Given the description of an element on the screen output the (x, y) to click on. 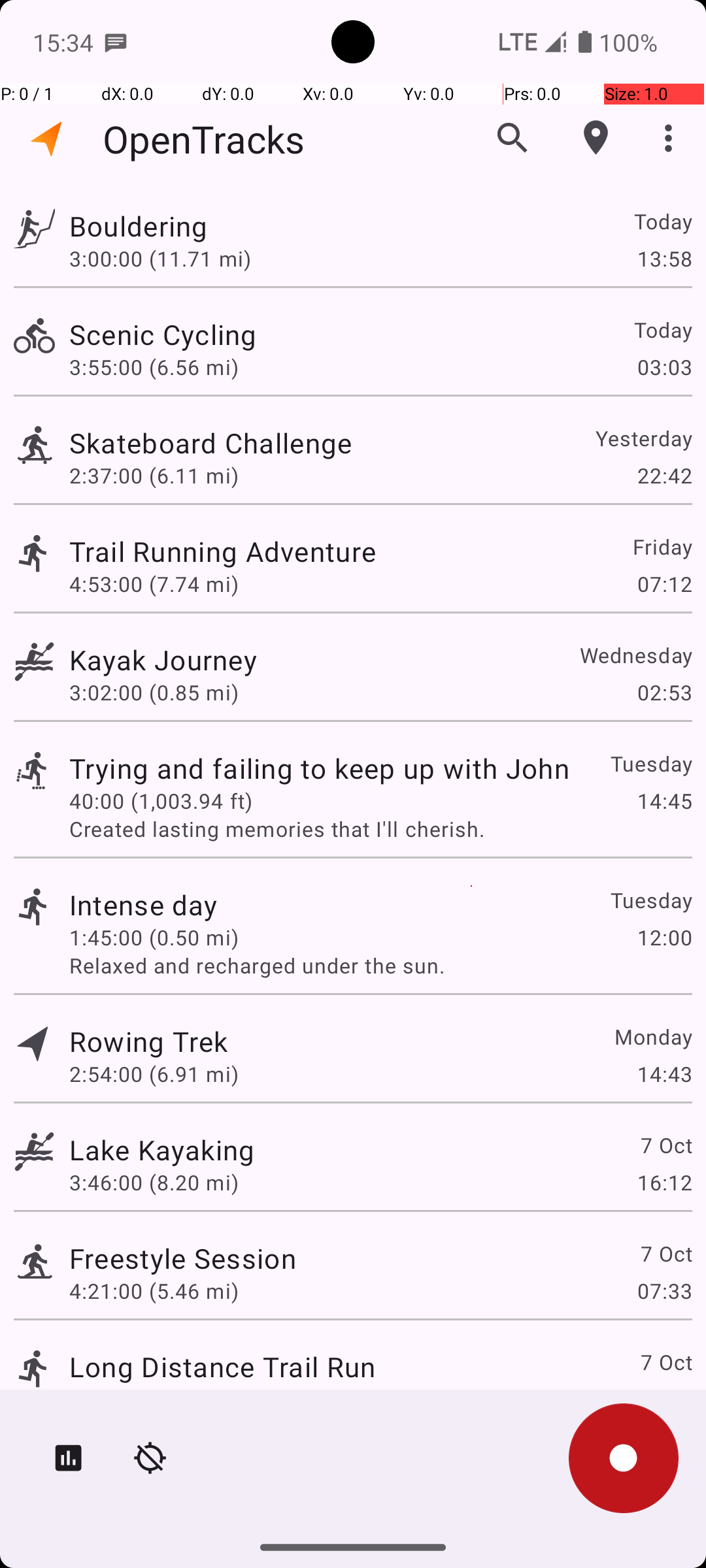
Bouldering Element type: android.widget.TextView (138, 225)
3:00:00 (11.71 mi) Element type: android.widget.TextView (159, 258)
13:58 Element type: android.widget.TextView (664, 258)
Scenic Cycling Element type: android.widget.TextView (162, 333)
3:55:00 (6.56 mi) Element type: android.widget.TextView (153, 366)
03:03 Element type: android.widget.TextView (664, 366)
Skateboard Challenge Element type: android.widget.TextView (210, 442)
2:37:00 (6.11 mi) Element type: android.widget.TextView (153, 475)
22:42 Element type: android.widget.TextView (664, 475)
Trail Running Adventure Element type: android.widget.TextView (222, 550)
4:53:00 (7.74 mi) Element type: android.widget.TextView (153, 583)
07:12 Element type: android.widget.TextView (664, 583)
Kayak Journey Element type: android.widget.TextView (162, 659)
3:02:00 (0.85 mi) Element type: android.widget.TextView (153, 692)
02:53 Element type: android.widget.TextView (664, 692)
Trying and failing to keep up with John Element type: android.widget.TextView (319, 767)
40:00 (1,003.94 ft) Element type: android.widget.TextView (160, 800)
14:45 Element type: android.widget.TextView (664, 800)
Created lasting memories that I'll cherish. Element type: android.widget.TextView (380, 828)
Intense day Element type: android.widget.TextView (143, 904)
1:45:00 (0.50 mi) Element type: android.widget.TextView (153, 937)
Relaxed and recharged under the sun. Element type: android.widget.TextView (380, 965)
Rowing Trek Element type: android.widget.TextView (148, 1040)
2:54:00 (6.91 mi) Element type: android.widget.TextView (153, 1073)
14:43 Element type: android.widget.TextView (664, 1073)
Lake Kayaking Element type: android.widget.TextView (161, 1149)
3:46:00 (8.20 mi) Element type: android.widget.TextView (153, 1182)
16:12 Element type: android.widget.TextView (664, 1182)
Freestyle Session Element type: android.widget.TextView (182, 1257)
4:21:00 (5.46 mi) Element type: android.widget.TextView (153, 1290)
07:33 Element type: android.widget.TextView (664, 1290)
Long Distance Trail Run Element type: android.widget.TextView (221, 1366)
1:51:00 (5.02 mi) Element type: android.widget.TextView (153, 1399)
05:04 Element type: android.widget.TextView (664, 1399)
